Given the description of an element on the screen output the (x, y) to click on. 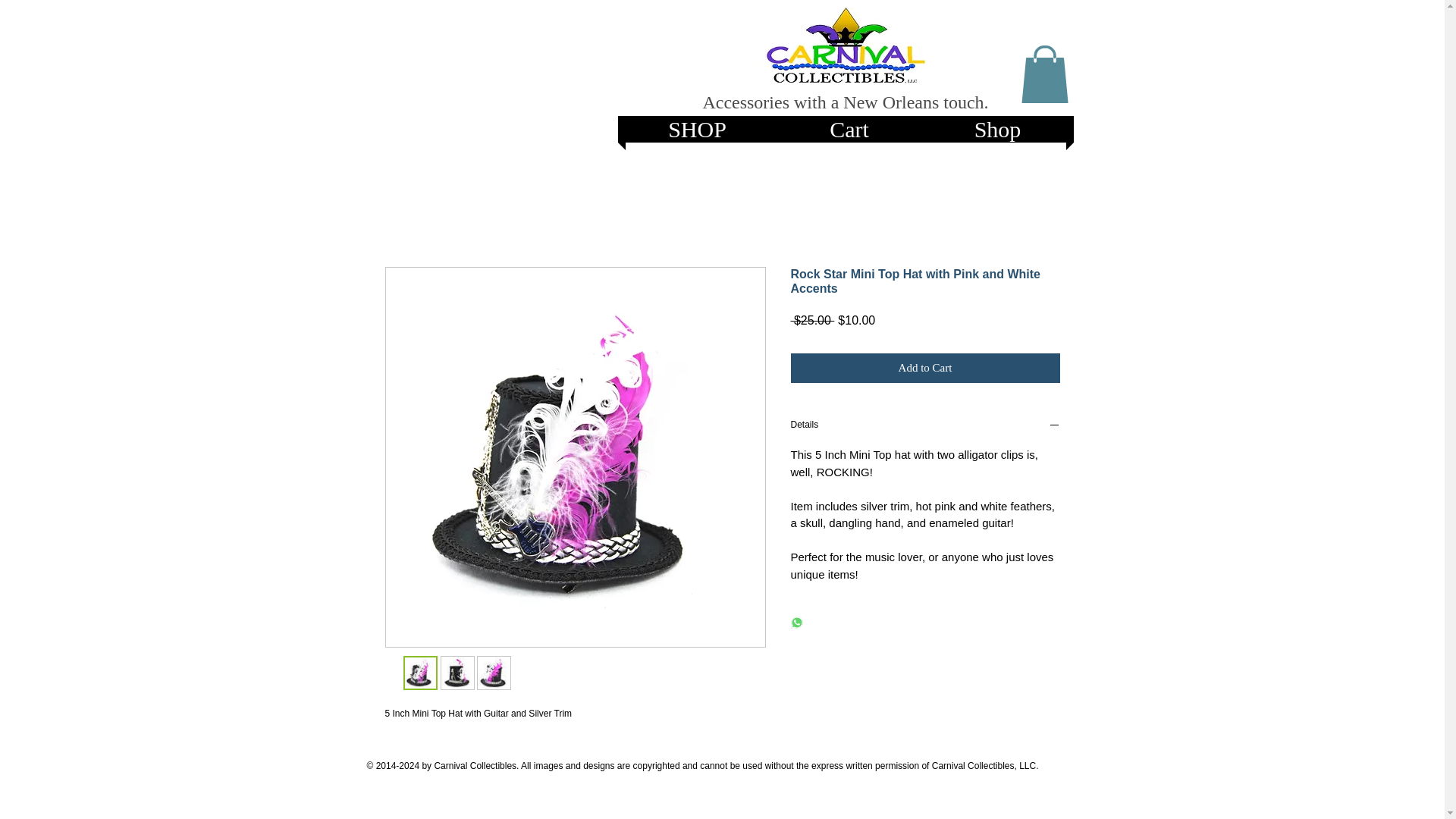
Logo (844, 46)
Cart (849, 129)
Details (924, 426)
Shop (996, 129)
Add to Cart (924, 367)
SHOP (697, 129)
